Given the description of an element on the screen output the (x, y) to click on. 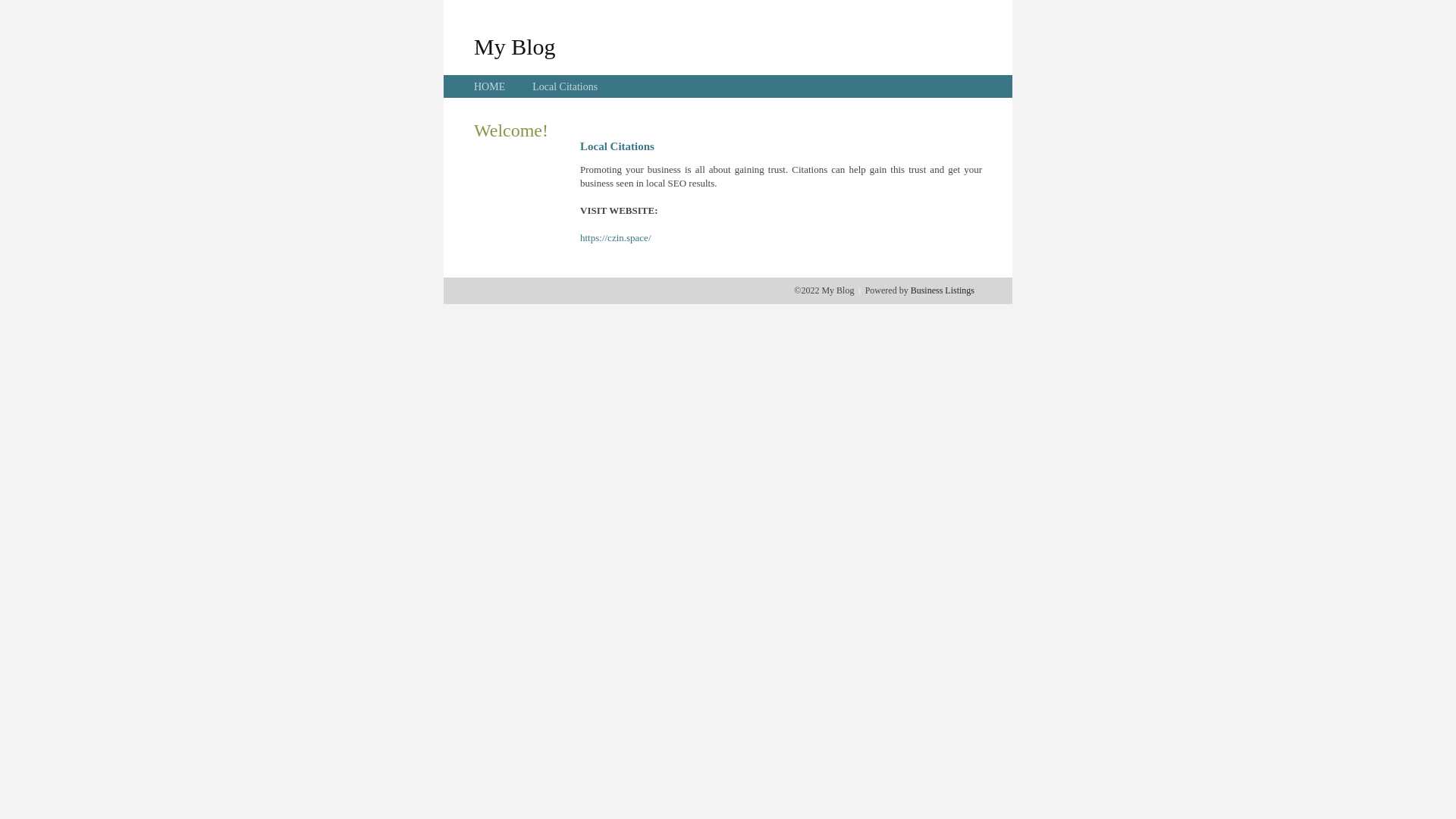
HOME Element type: text (489, 86)
My Blog Element type: text (514, 46)
Business Listings Element type: text (942, 290)
Local Citations Element type: text (564, 86)
https://czin.space/ Element type: text (615, 237)
